Given the description of an element on the screen output the (x, y) to click on. 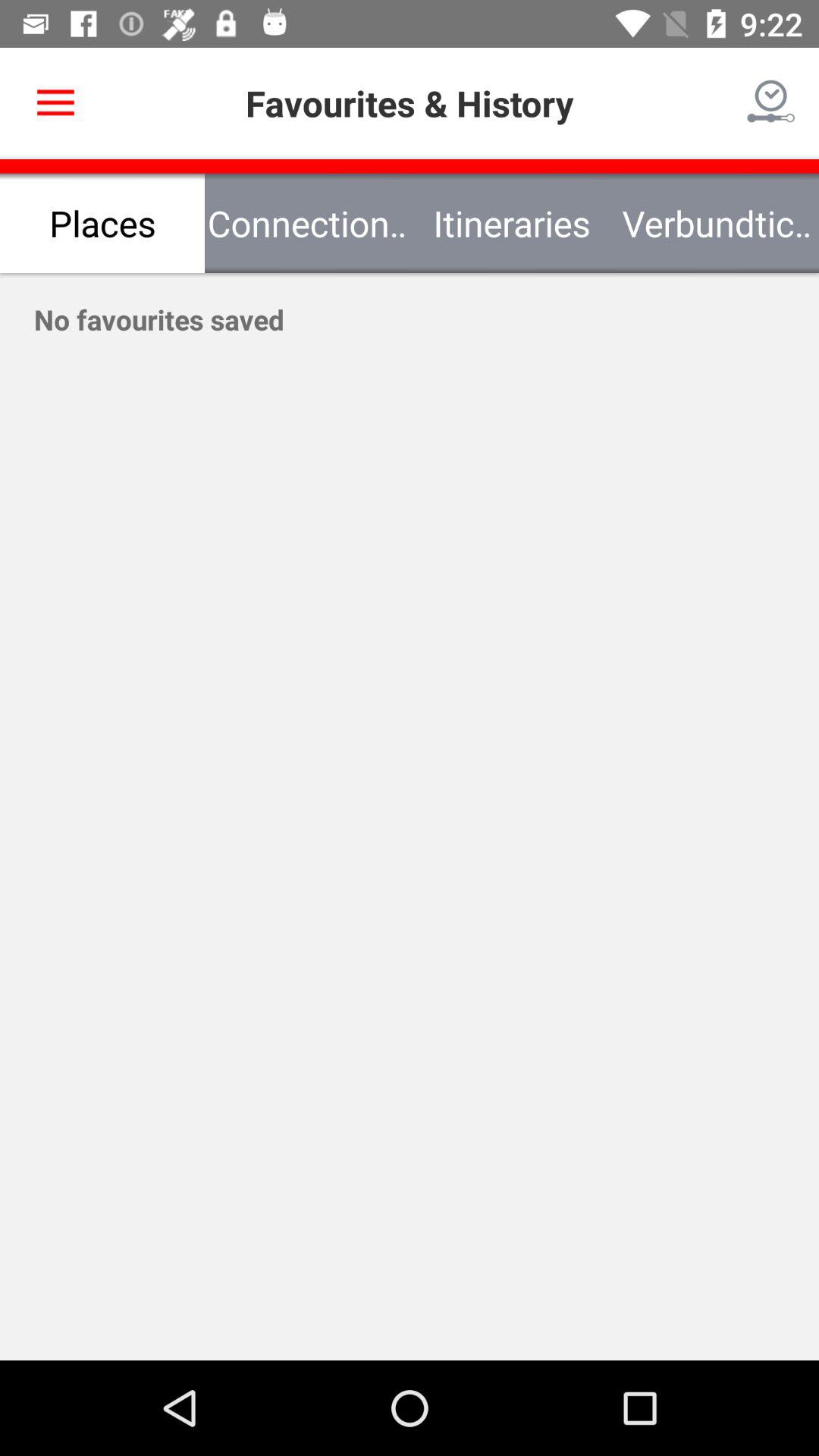
open icon next to places item (306, 223)
